Given the description of an element on the screen output the (x, y) to click on. 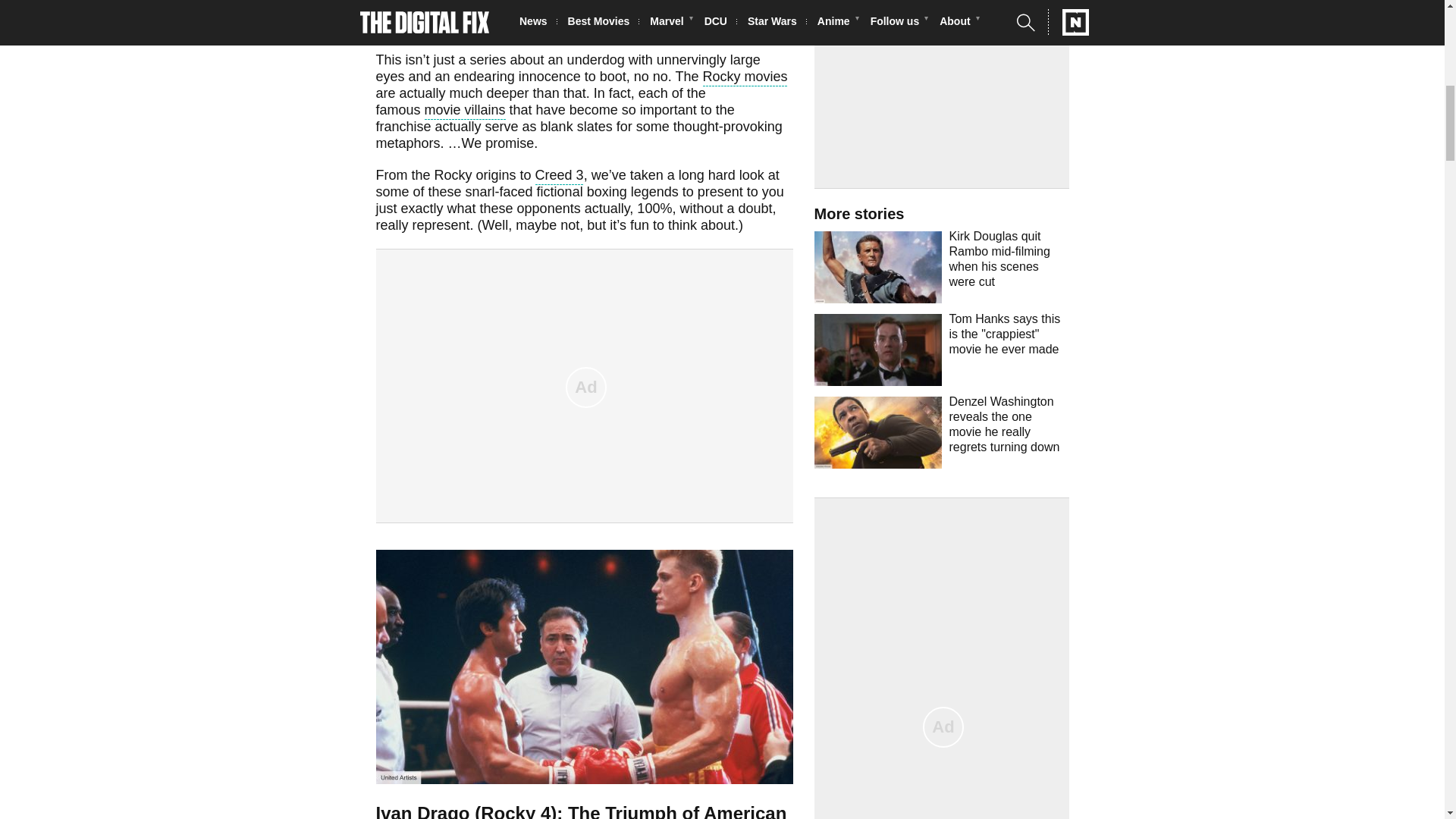
sports movies (564, 2)
Rocky movies (744, 77)
movie villains (465, 111)
